Given the description of an element on the screen output the (x, y) to click on. 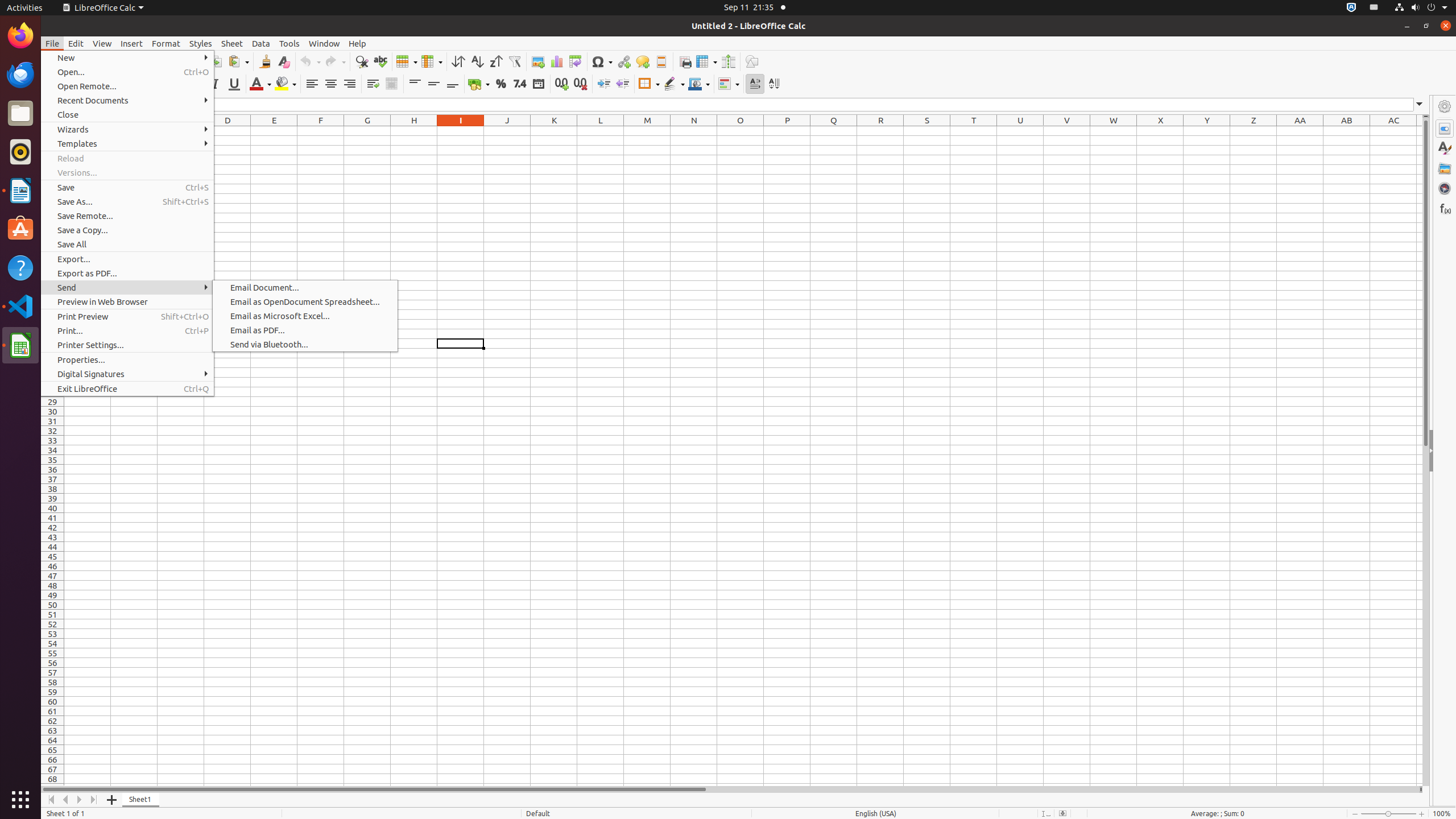
LibreOffice Calc Element type: menu (102, 7)
Move To End Element type: push-button (94, 799)
R1 Element type: table-cell (880, 130)
Border Color Element type: push-button (698, 83)
Align Bottom Element type: push-button (452, 83)
